Given the description of an element on the screen output the (x, y) to click on. 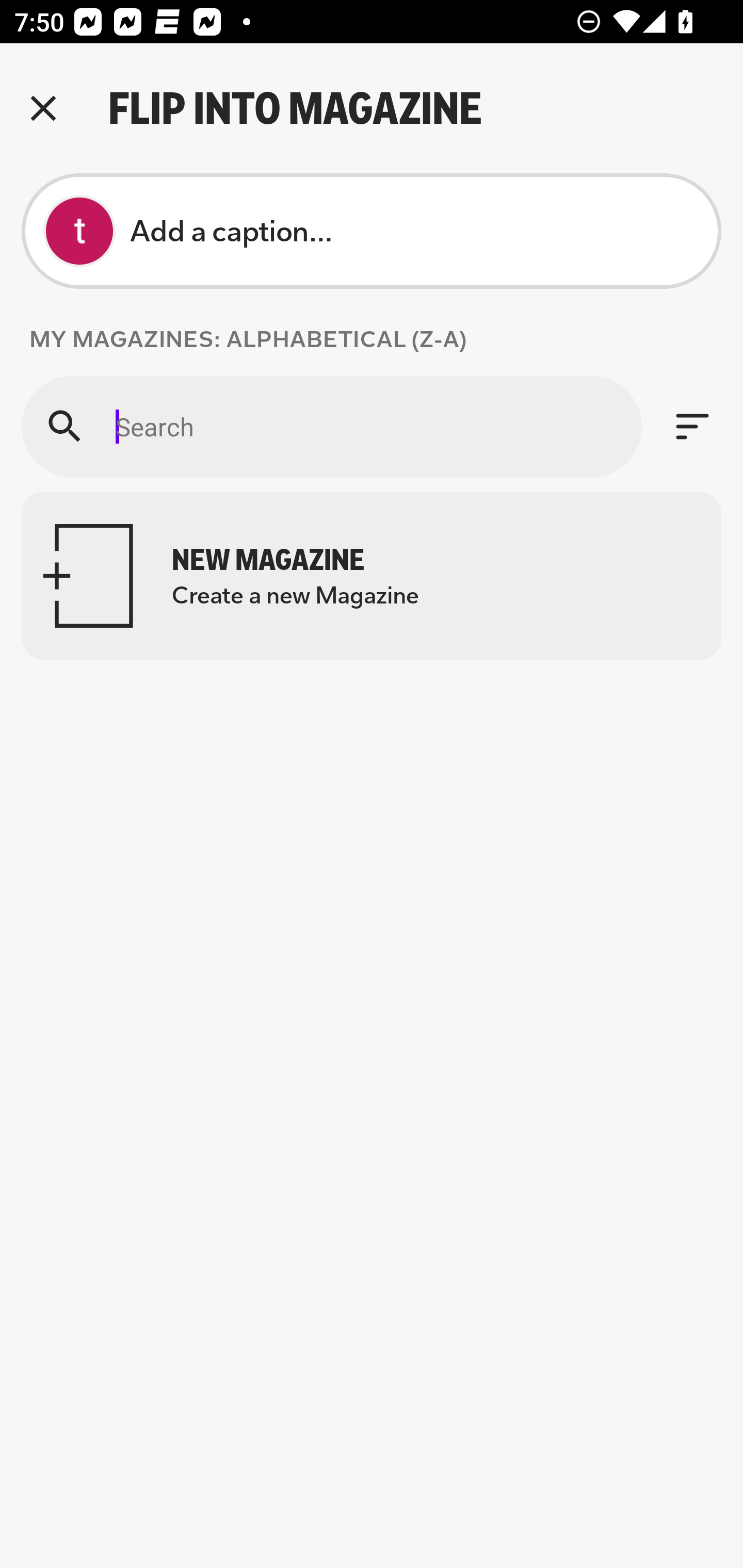
test appium Add a caption… (371, 231)
Search (331, 426)
NEW MAGAZINE Create a new Magazine (371, 575)
